Given the description of an element on the screen output the (x, y) to click on. 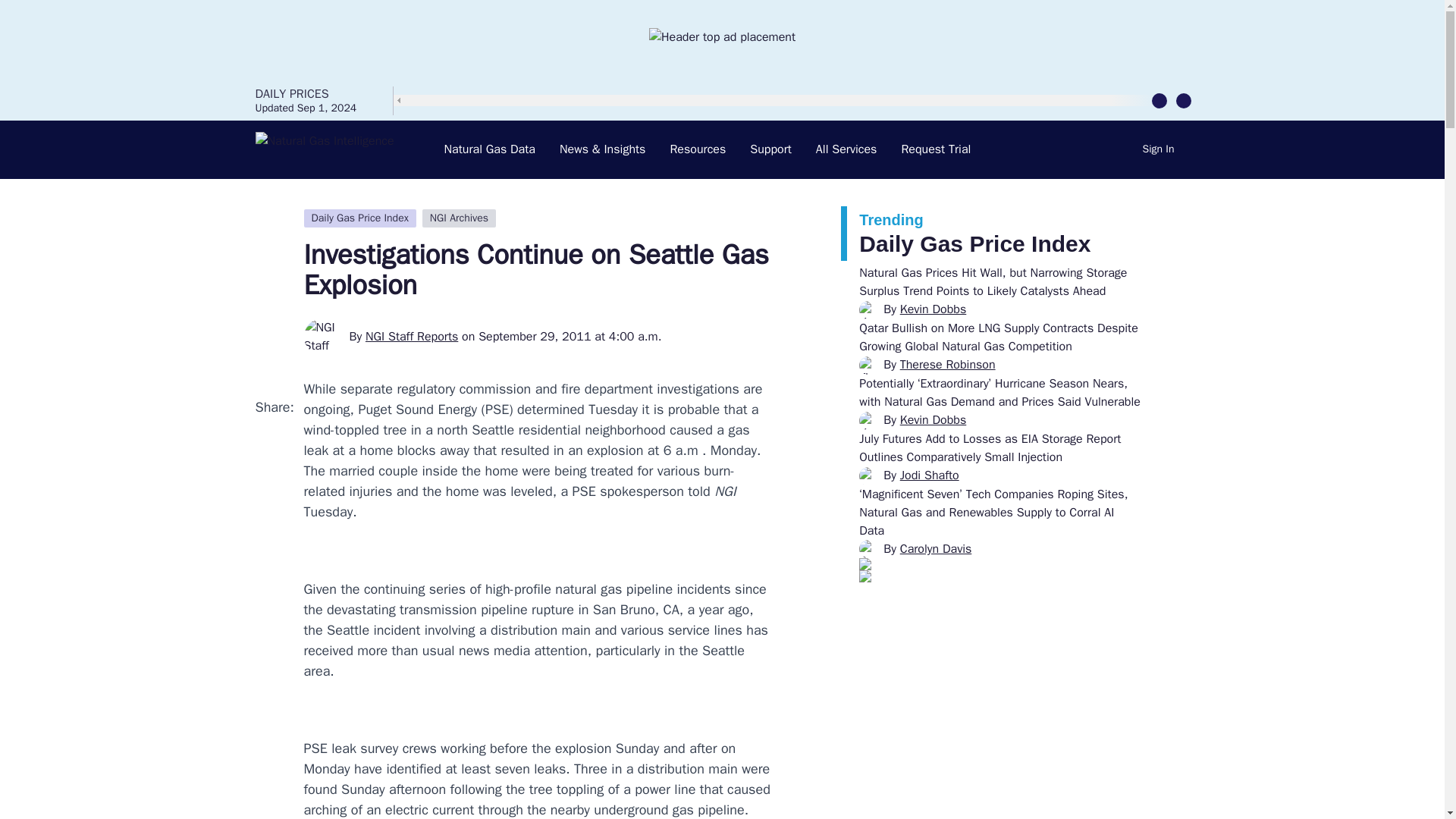
Natural Gas Data (489, 149)
Scroll Left (1158, 99)
Scroll Right (1182, 99)
